Given the description of an element on the screen output the (x, y) to click on. 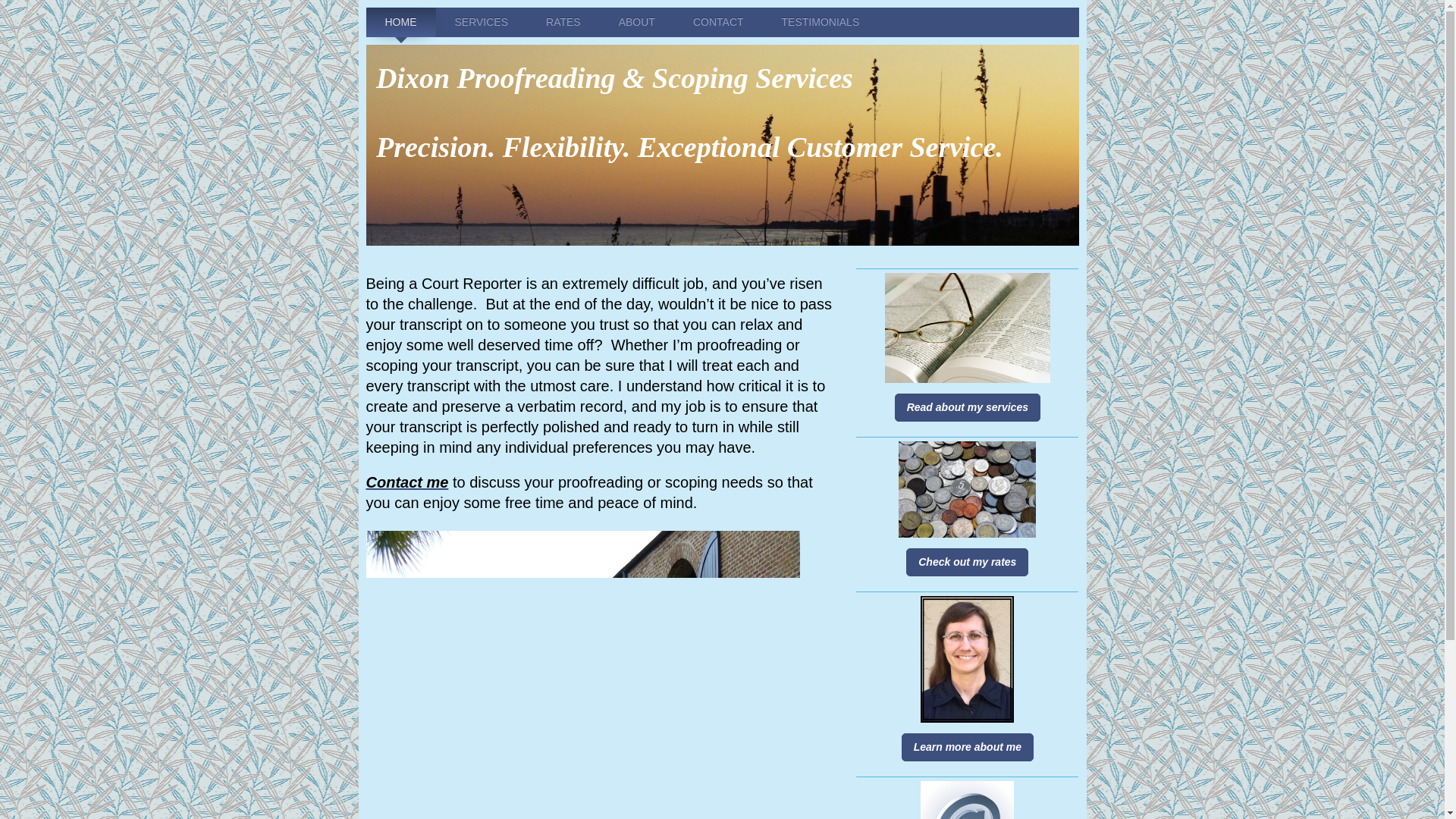
RATES (563, 21)
Learn more about me (967, 747)
HOME (400, 21)
SERVICES (481, 21)
TESTIMONIALS (820, 21)
CONTACT (718, 21)
Contact me (406, 482)
Read about my services (968, 407)
Check out my rates (966, 561)
ABOUT (636, 21)
